Given the description of an element on the screen output the (x, y) to click on. 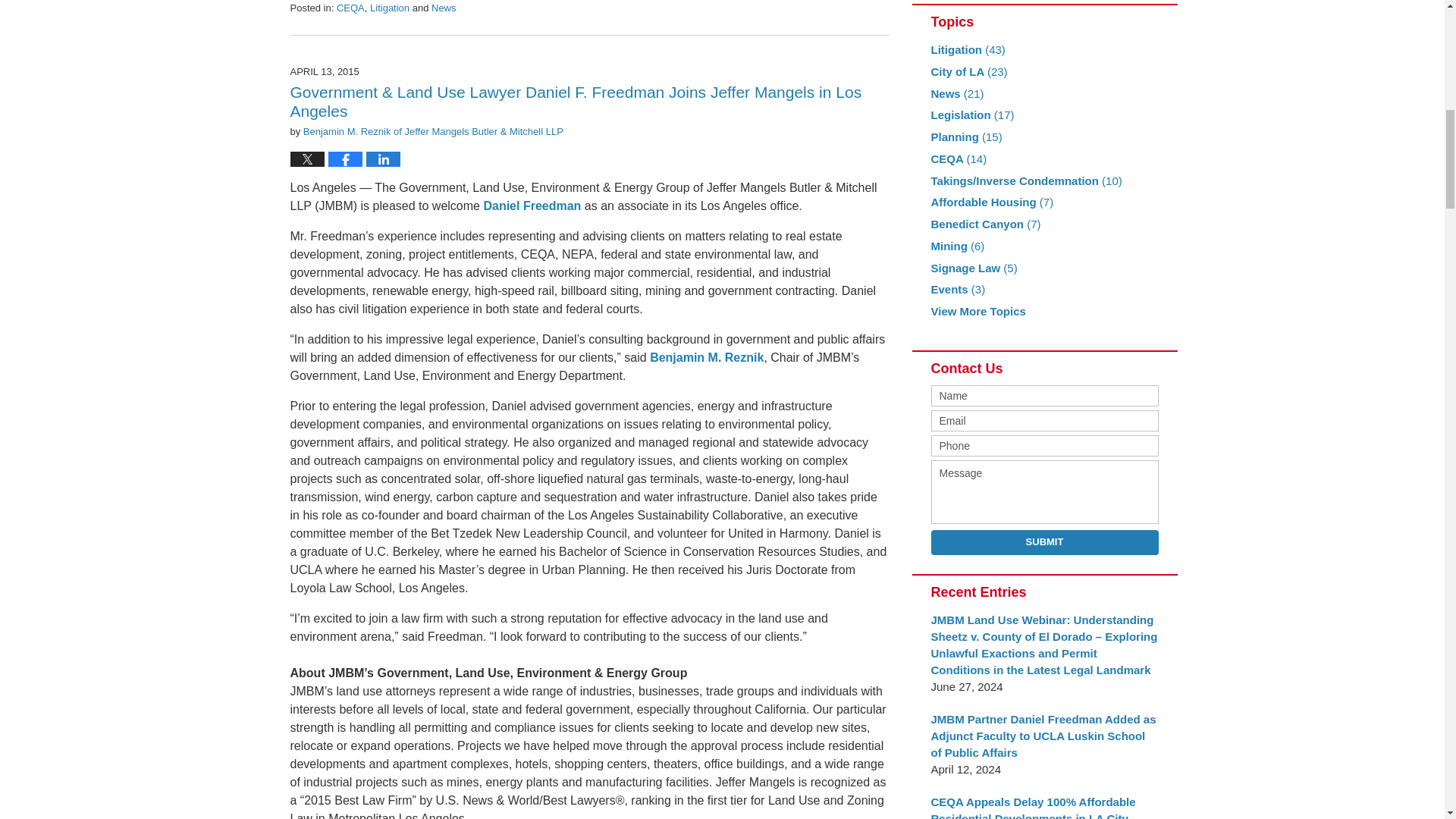
Daniel Freedman (531, 205)
News (443, 7)
View all posts in Litigation (389, 7)
Litigation (389, 7)
View all posts in News (443, 7)
CEQA (350, 7)
View all posts in CEQA (350, 7)
